Given the description of an element on the screen output the (x, y) to click on. 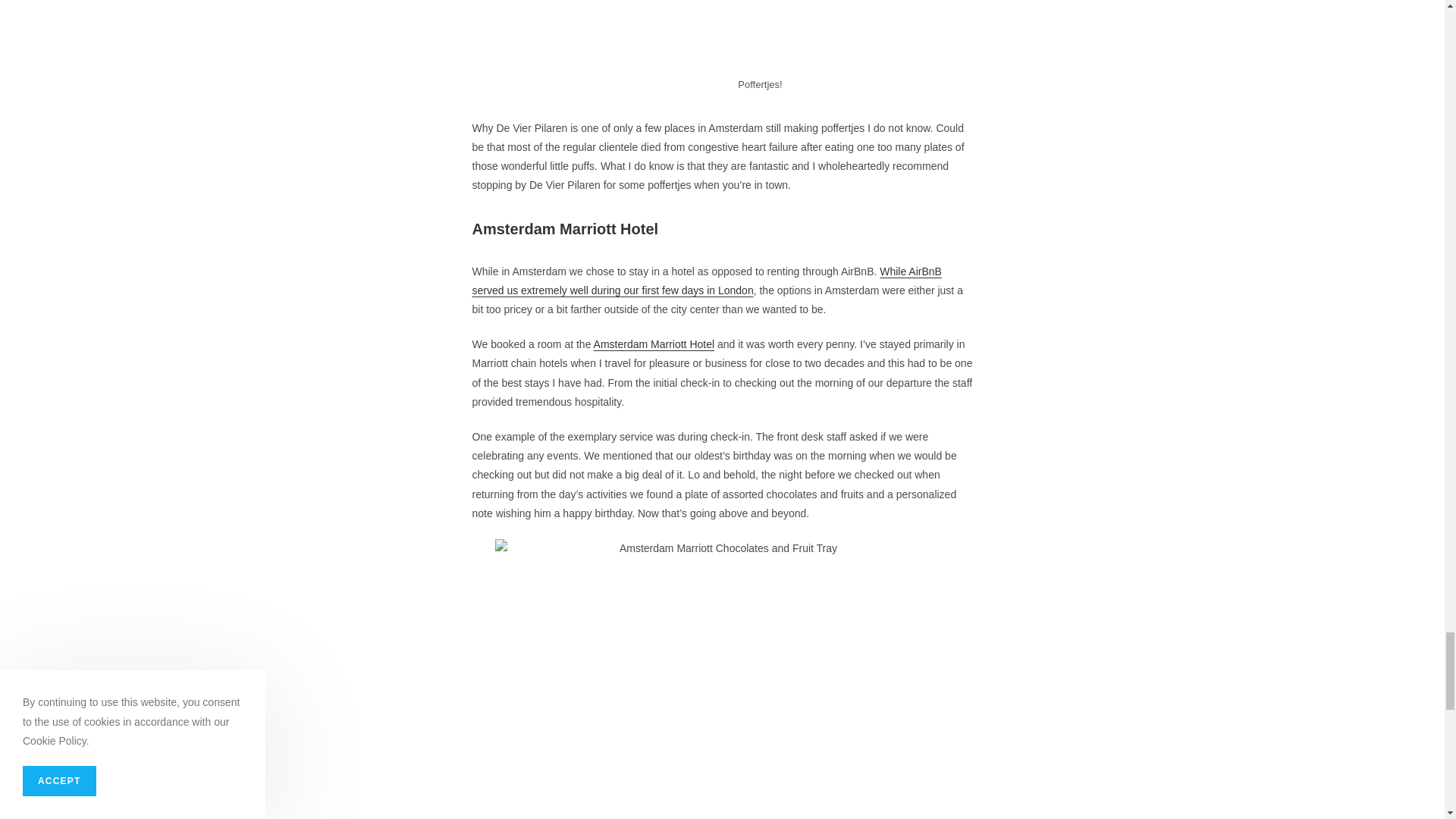
Amsterdam Marriott Hotel (654, 344)
